Given the description of an element on the screen output the (x, y) to click on. 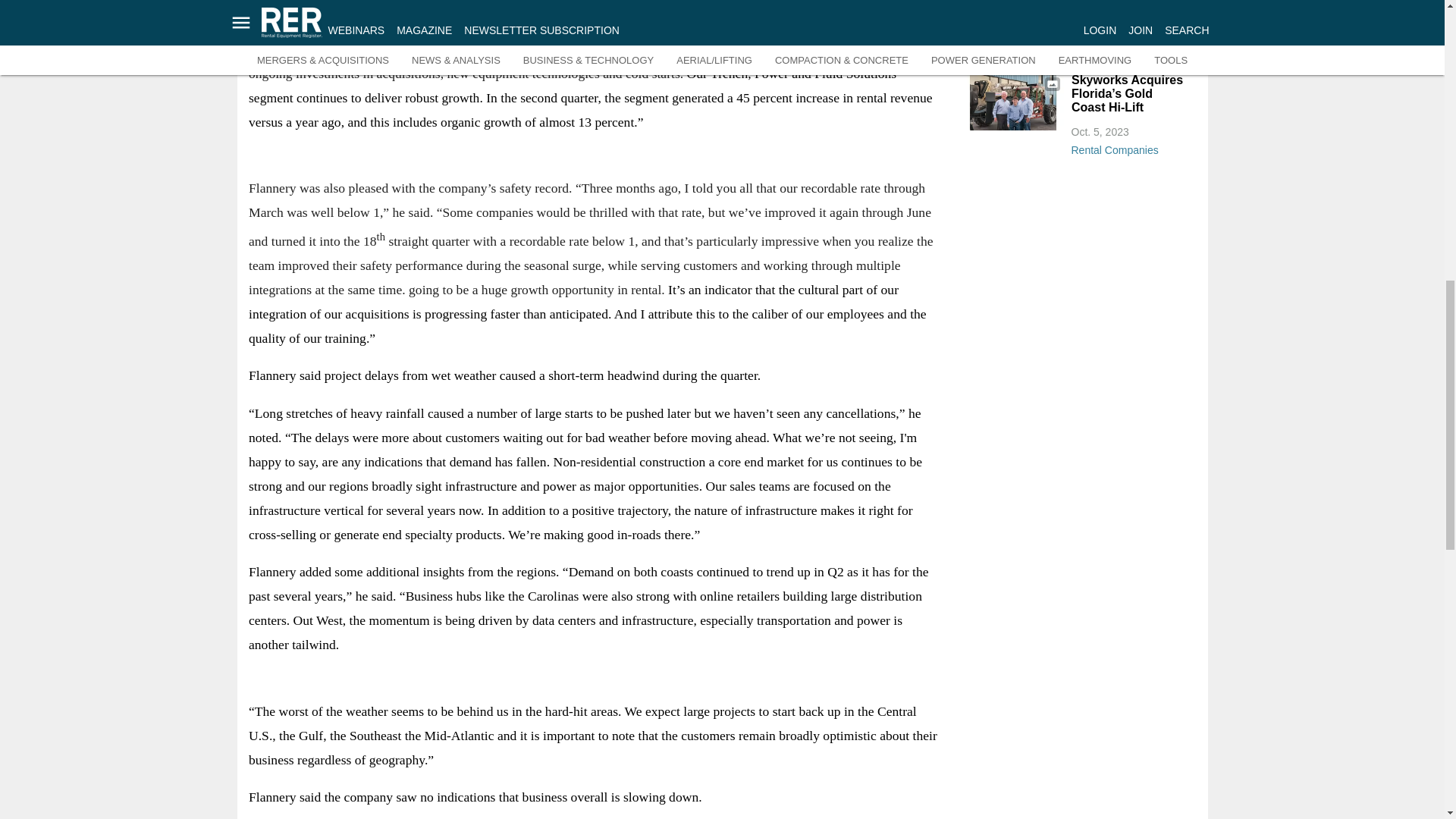
Skyworks Three Generations Of Reinharts (1012, 101)
